Given the description of an element on the screen output the (x, y) to click on. 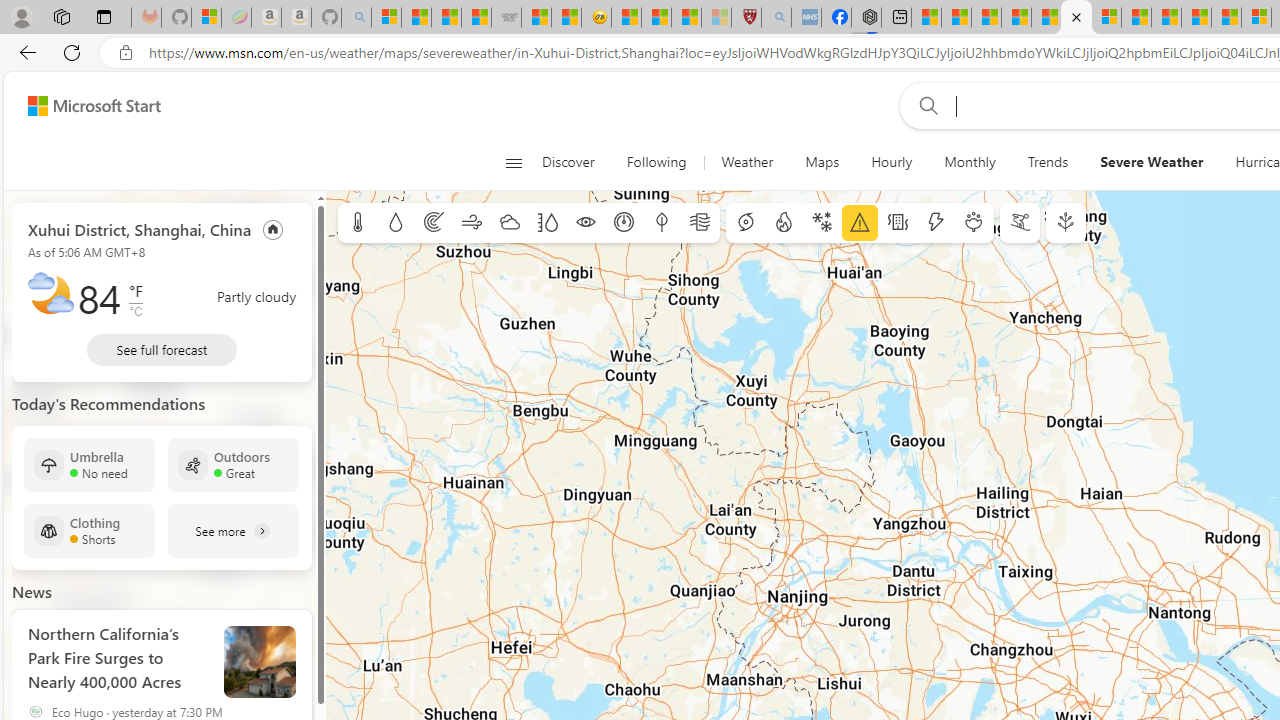
Humidity (547, 223)
